Given the description of an element on the screen output the (x, y) to click on. 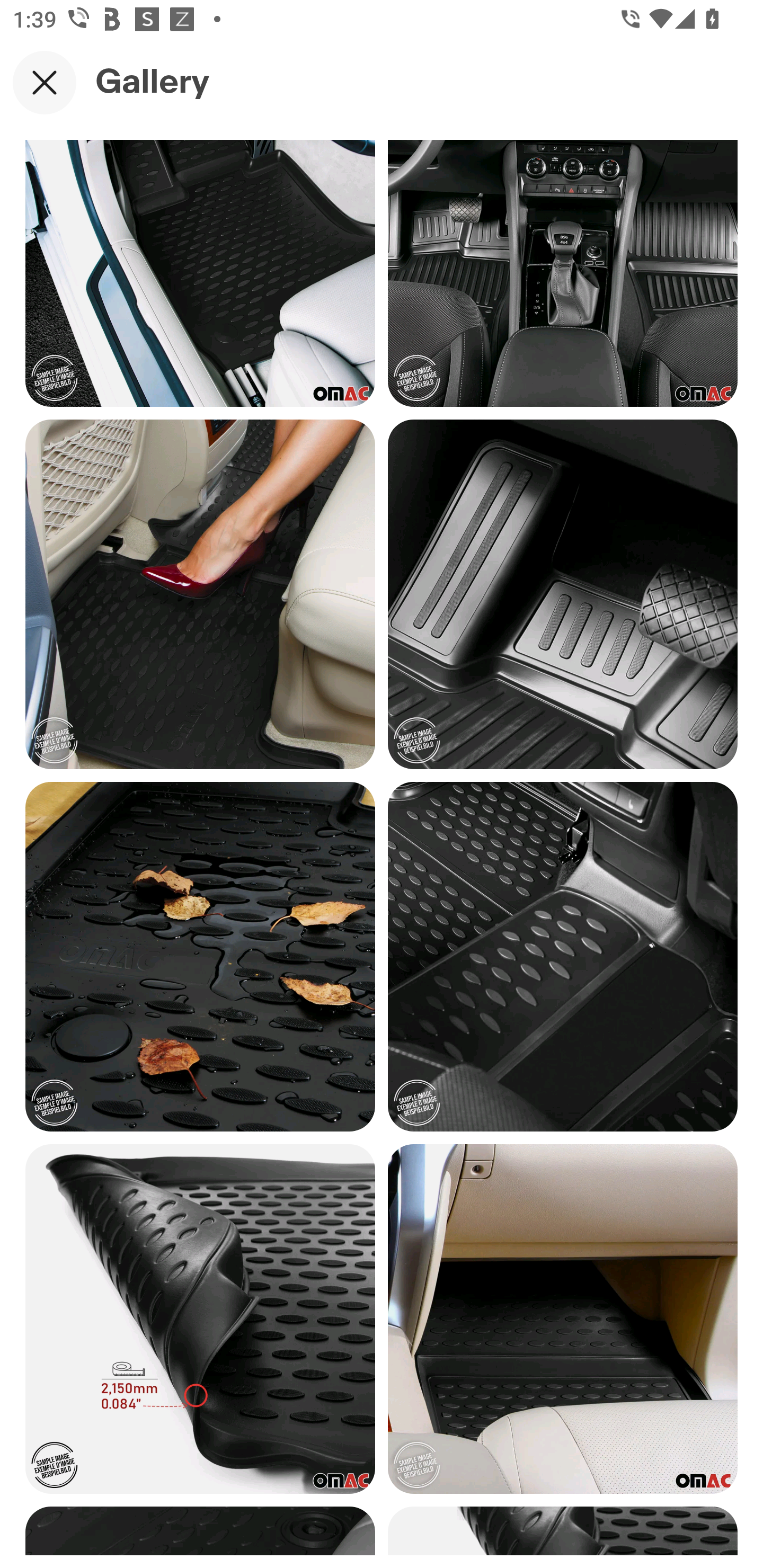
Close (44, 82)
Item image 3 of 13 (200, 272)
Item image 4 of 13 (562, 272)
Item image 5 of 13 (200, 594)
Item image 6 of 13 (562, 594)
Item image 7 of 13 (200, 957)
Item image 8 of 13 (562, 957)
Item image 9 of 13 (200, 1319)
Item image 10 of 13 (562, 1319)
